Given the description of an element on the screen output the (x, y) to click on. 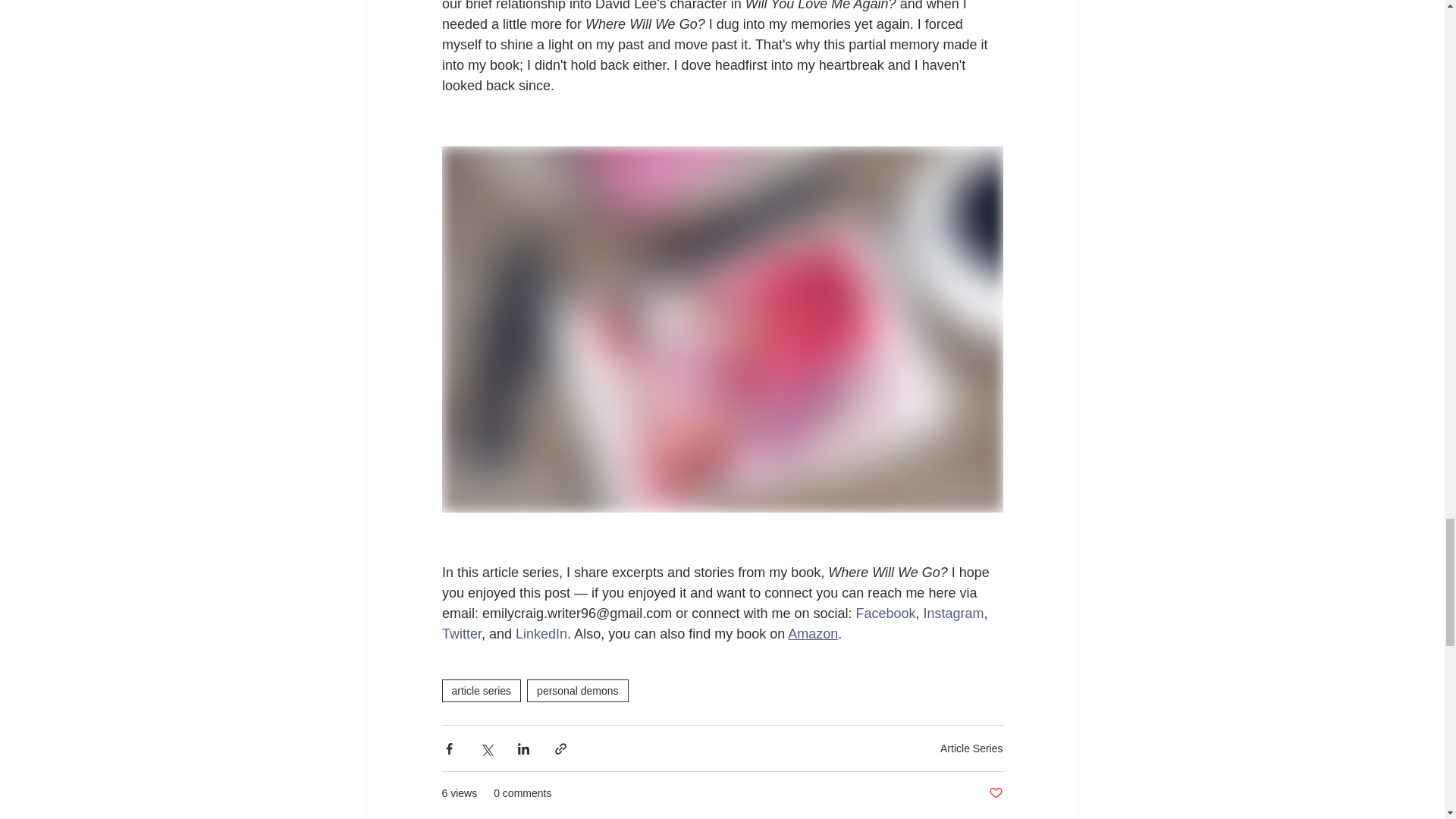
personal demons (577, 690)
Amazon (812, 633)
Instagram (953, 613)
article series (481, 690)
Post not marked as liked (995, 793)
Article Series (971, 748)
LinkedIn (541, 633)
Twitter (460, 633)
Facebook (885, 613)
